Given the description of an element on the screen output the (x, y) to click on. 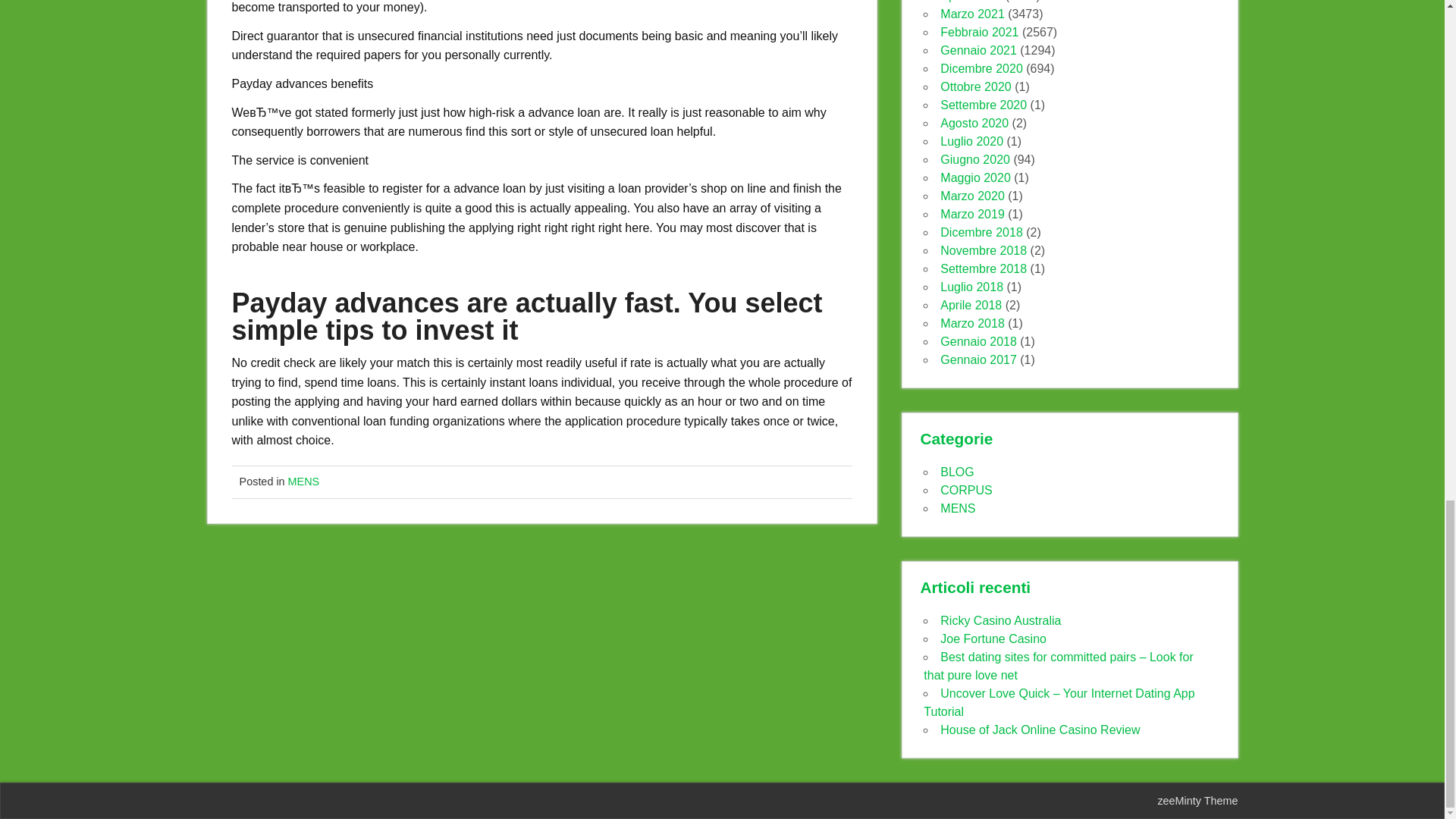
MENS (304, 481)
